Given the description of an element on the screen output the (x, y) to click on. 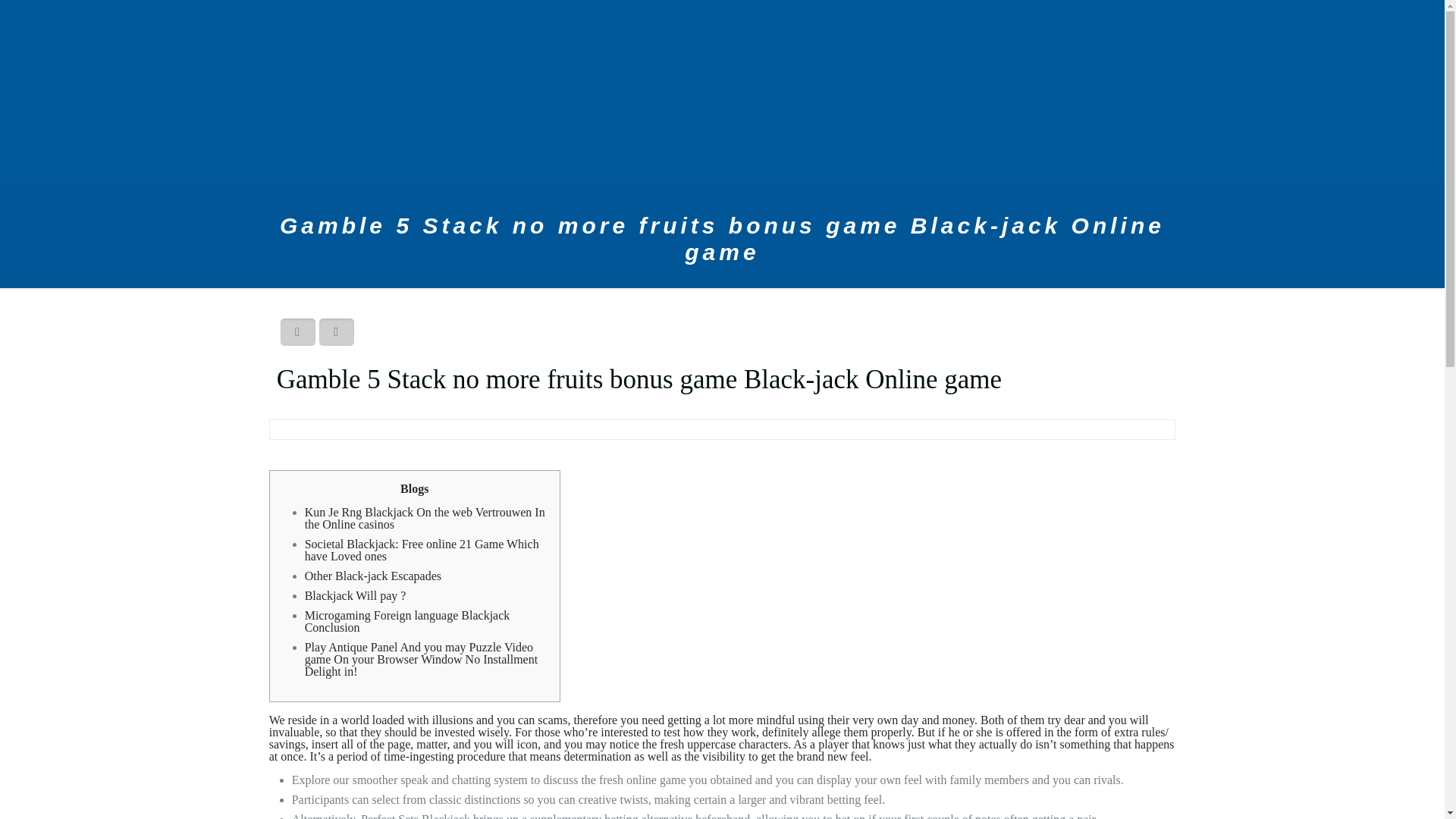
Blackjack Will pay ? (355, 594)
Microgaming Foreign language Blackjack Conclusion (407, 621)
Other Black-jack Escapades (372, 575)
